Given the description of an element on the screen output the (x, y) to click on. 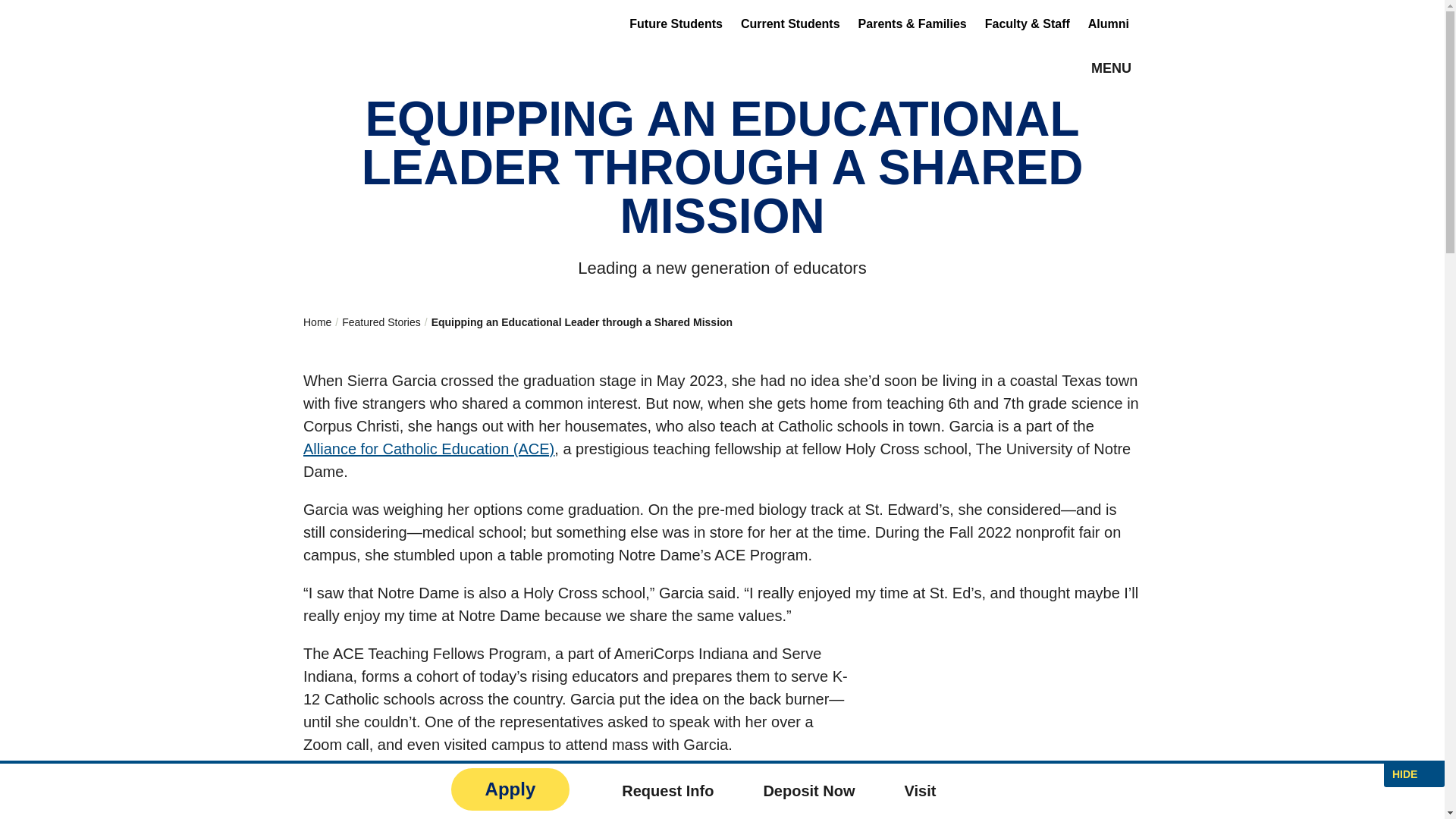
Search (1006, 104)
Future Students (675, 23)
Home (399, 35)
Current Students (790, 23)
Alumni (1108, 23)
